Given the description of an element on the screen output the (x, y) to click on. 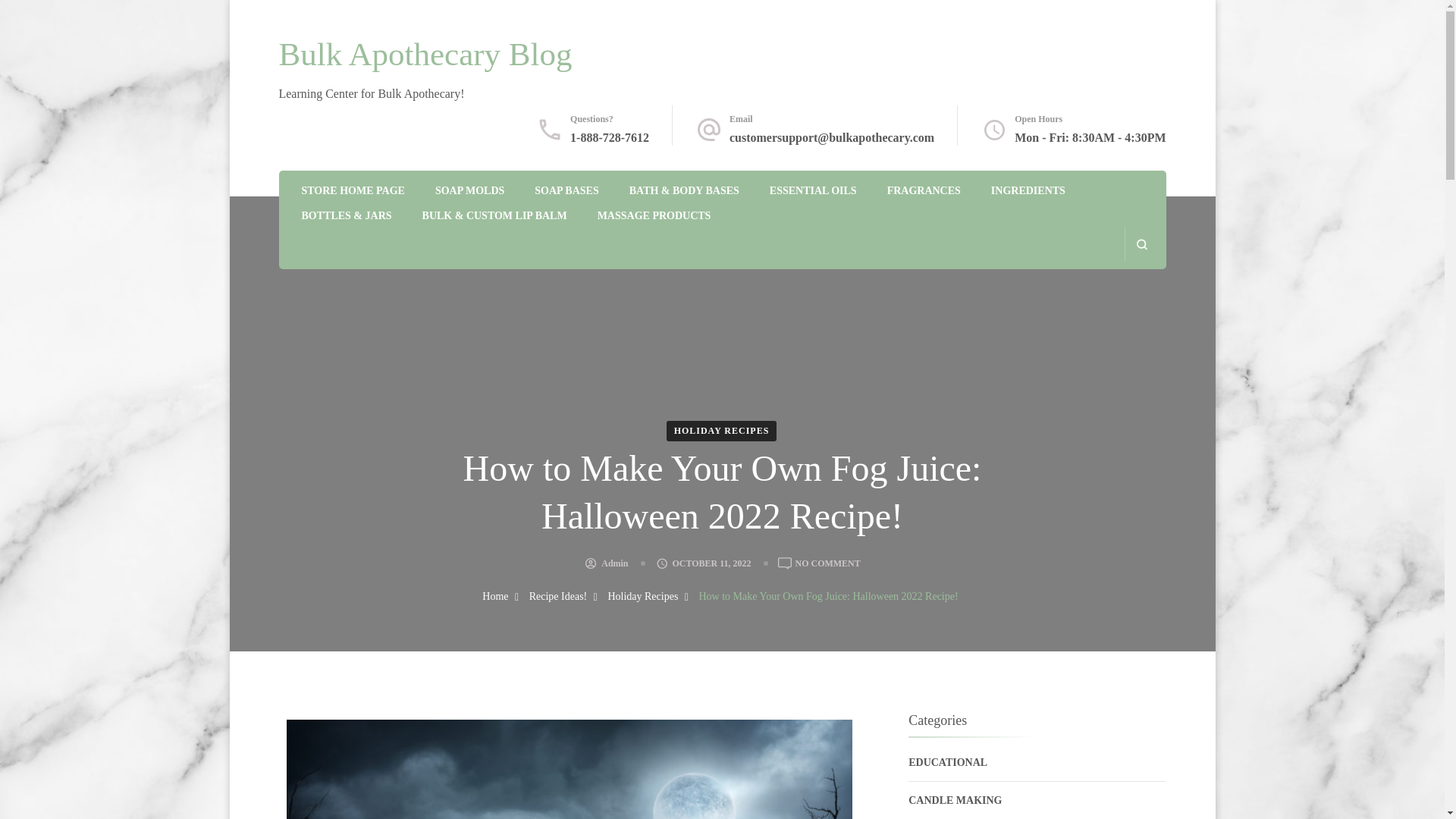
HOLIDAY RECIPES (721, 431)
MASSAGE PRODUCTS (653, 216)
1-888-728-7612 (609, 137)
FRAGRANCES (923, 191)
INGREDIENTS (1028, 191)
Bulk Apothecary Blog (425, 54)
OCTOBER 11, 2022 (711, 564)
STORE HOME PAGE (352, 191)
Home (494, 595)
SOAP BASES (566, 191)
